Given the description of an element on the screen output the (x, y) to click on. 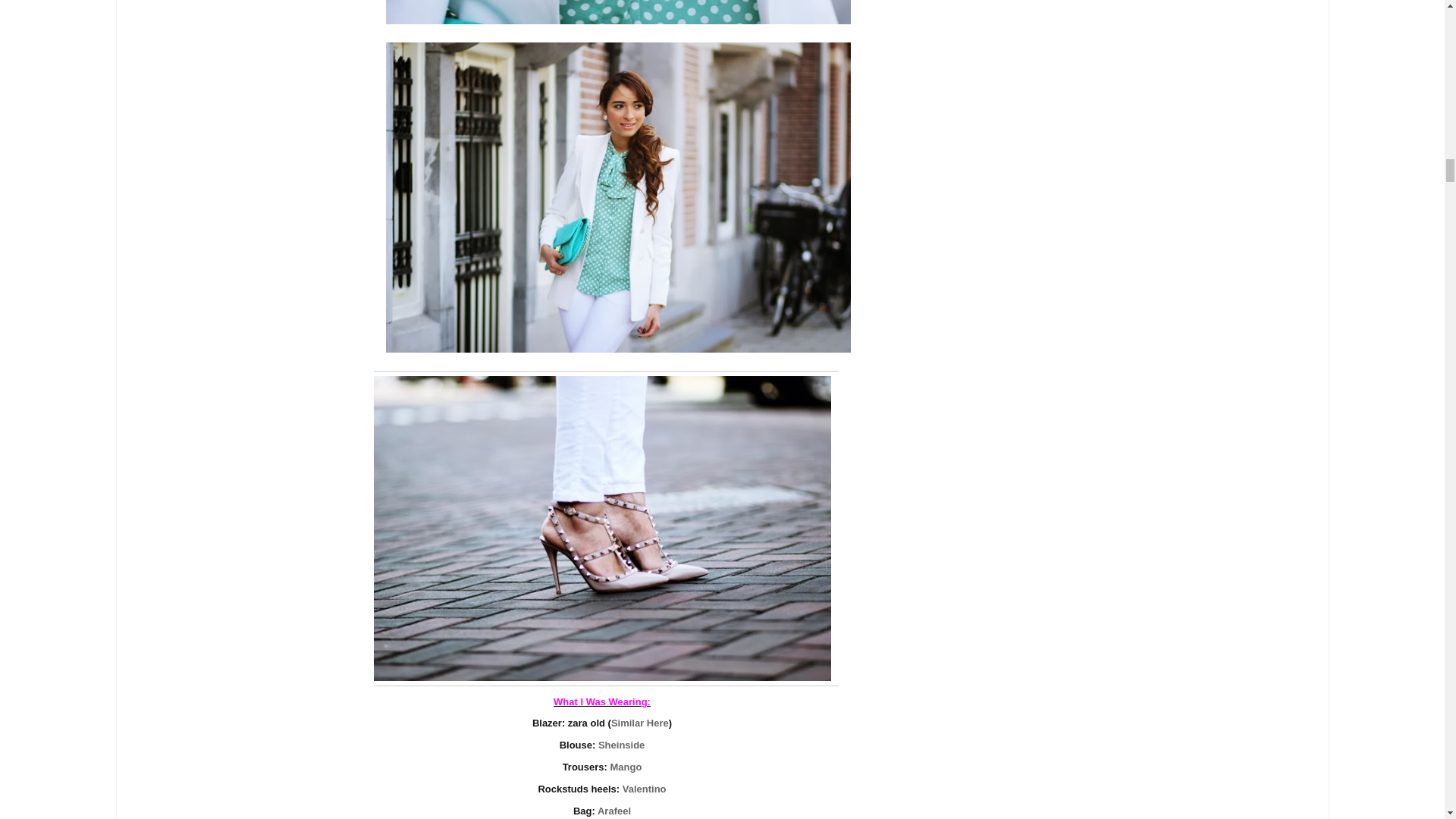
Similar Here (639, 722)
Sheinside (621, 745)
Mango (626, 767)
